Given the description of an element on the screen output the (x, y) to click on. 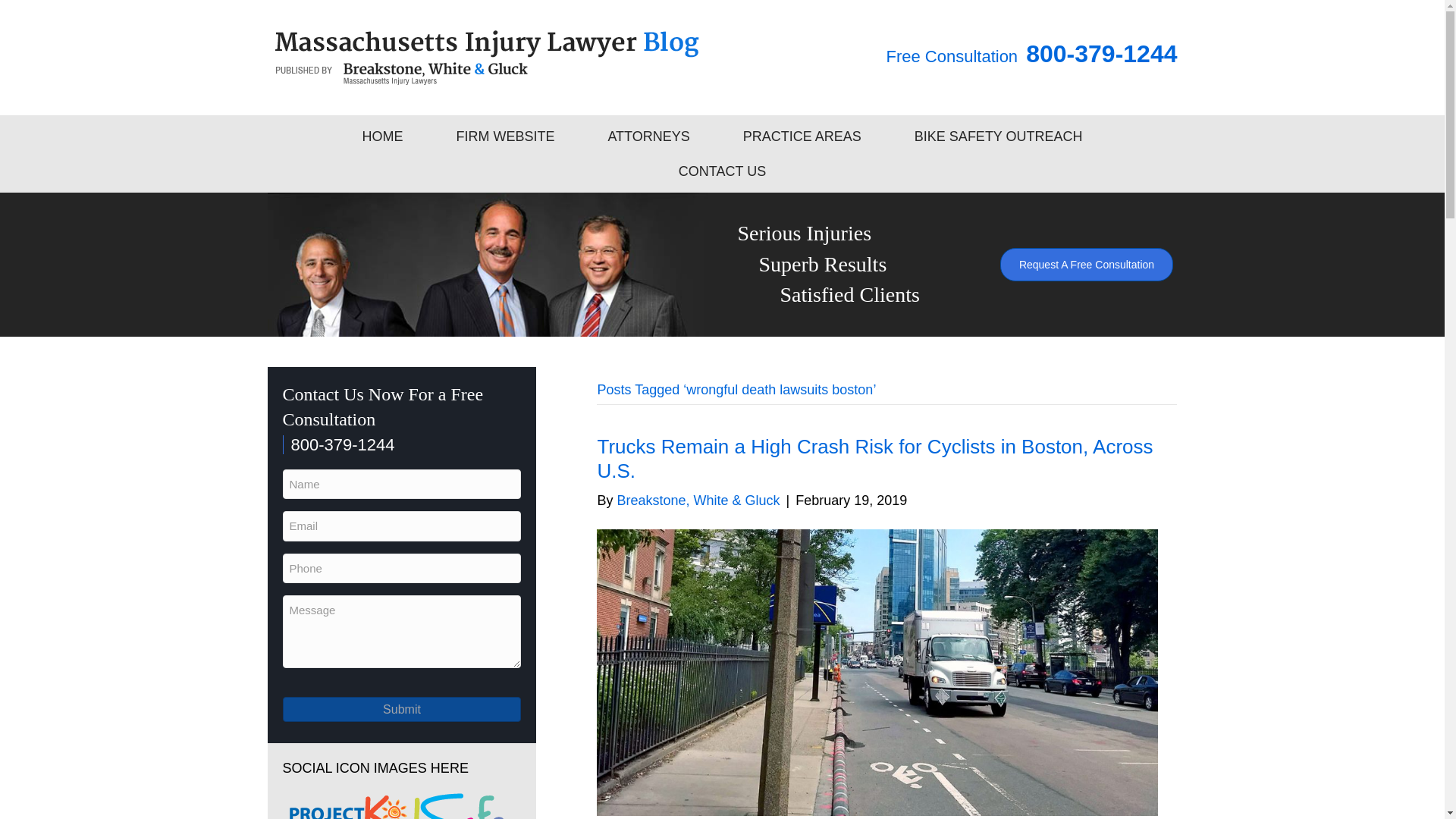
FIRM WEBSITE (504, 135)
800-379-1244 (338, 444)
Mass Injury Blog Attorneys (486, 264)
ATTORNEYS (648, 135)
Mass Injury Lawyer Blog (486, 57)
PRACTICE AREAS (802, 135)
HOME (381, 135)
Submit (401, 708)
Request A Free Consultation (1086, 264)
CONTACT US (722, 171)
BIKE SAFETY OUTREACH (998, 135)
Submit (401, 708)
